Given the description of an element on the screen output the (x, y) to click on. 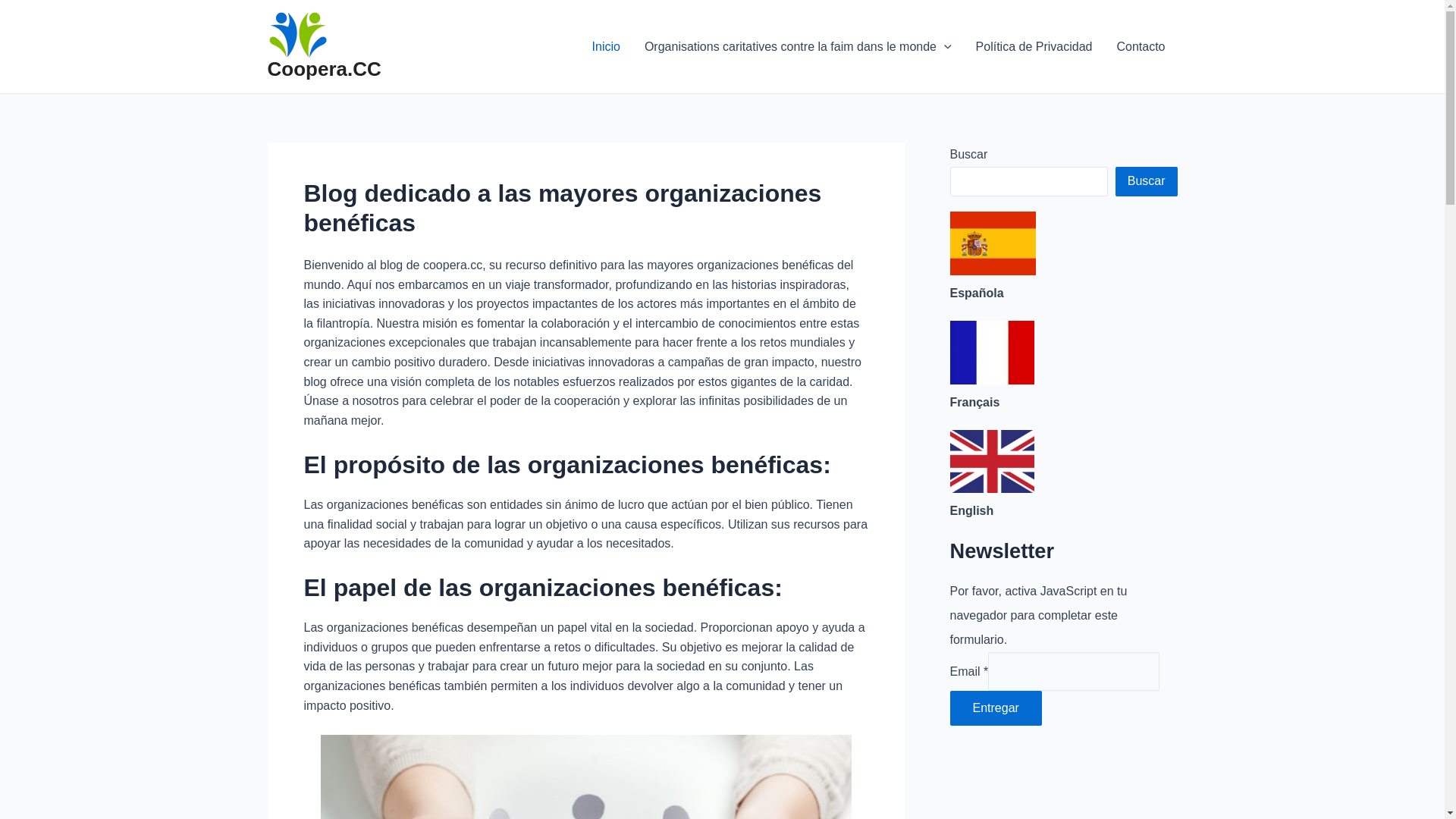
Contacto Element type: text (1140, 46)
Coopera.CC Element type: text (323, 68)
Buscar Element type: text (1146, 180)
Organisations caritatives contre la faim dans le monde Element type: text (797, 46)
Inicio Element type: text (606, 46)
Entregar Element type: text (995, 707)
